Given the description of an element on the screen output the (x, y) to click on. 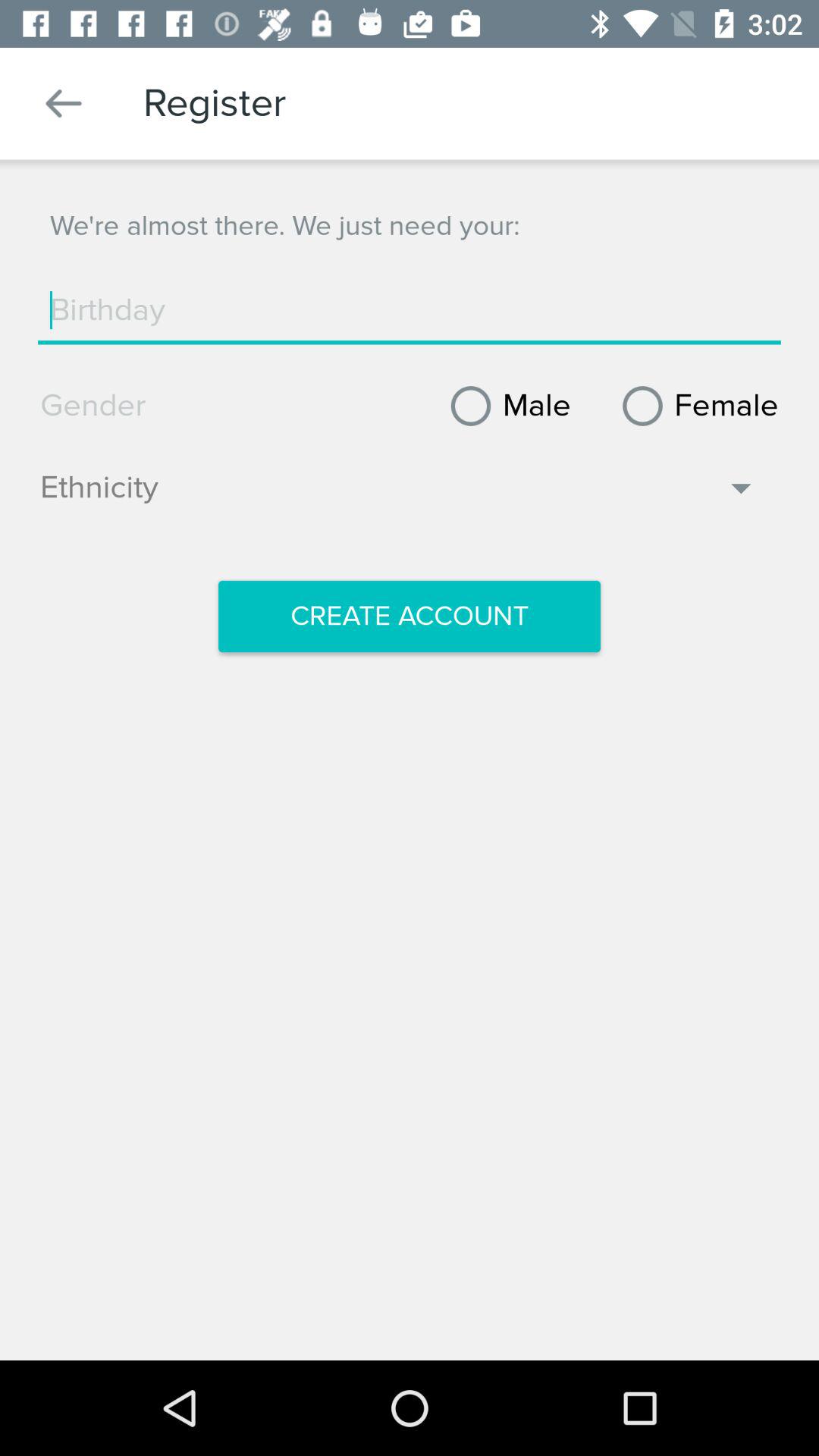
turn on item next to female icon (505, 405)
